Given the description of an element on the screen output the (x, y) to click on. 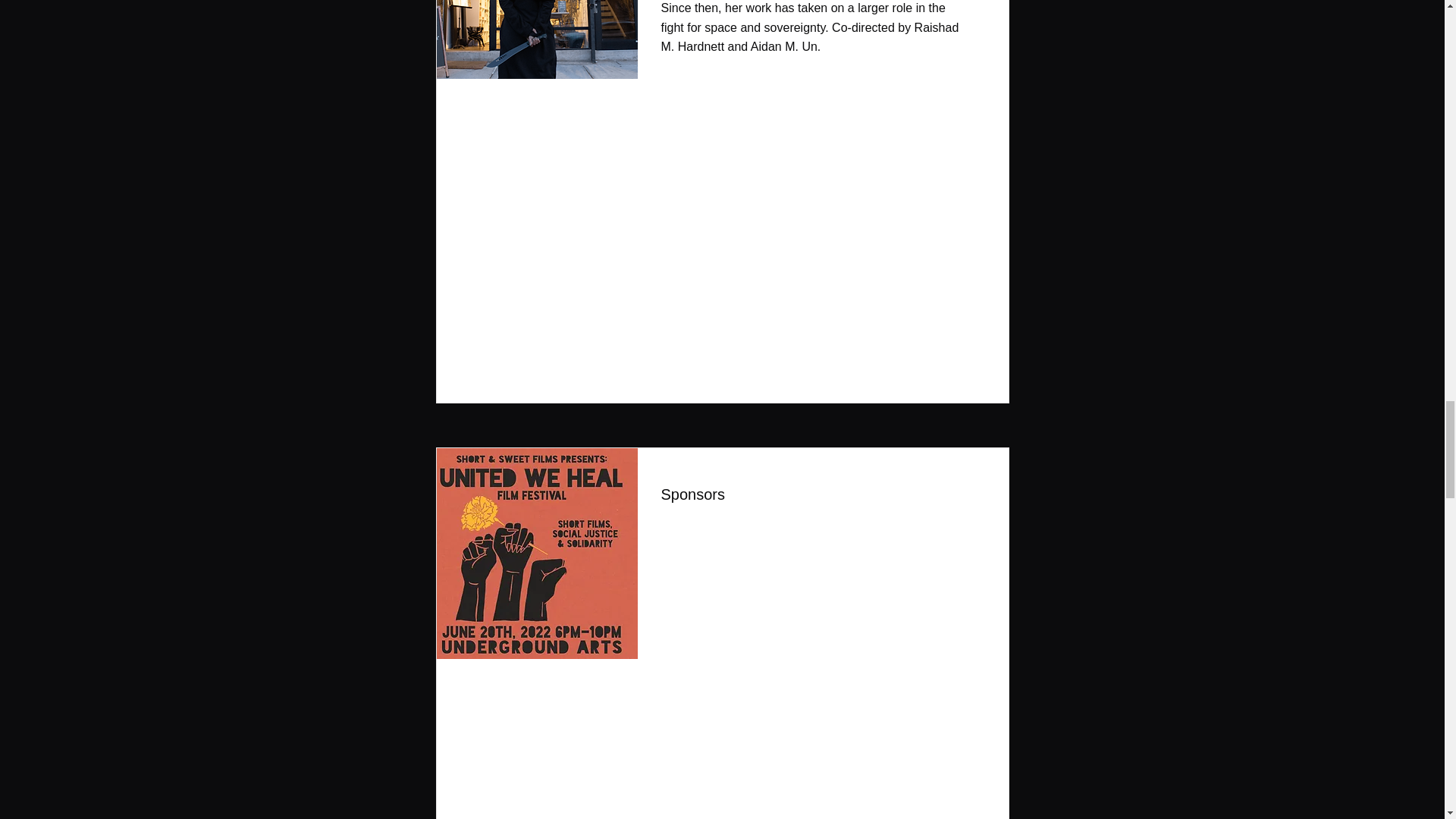
Harrietts-min.png (531, 39)
